Given the description of an element on the screen output the (x, y) to click on. 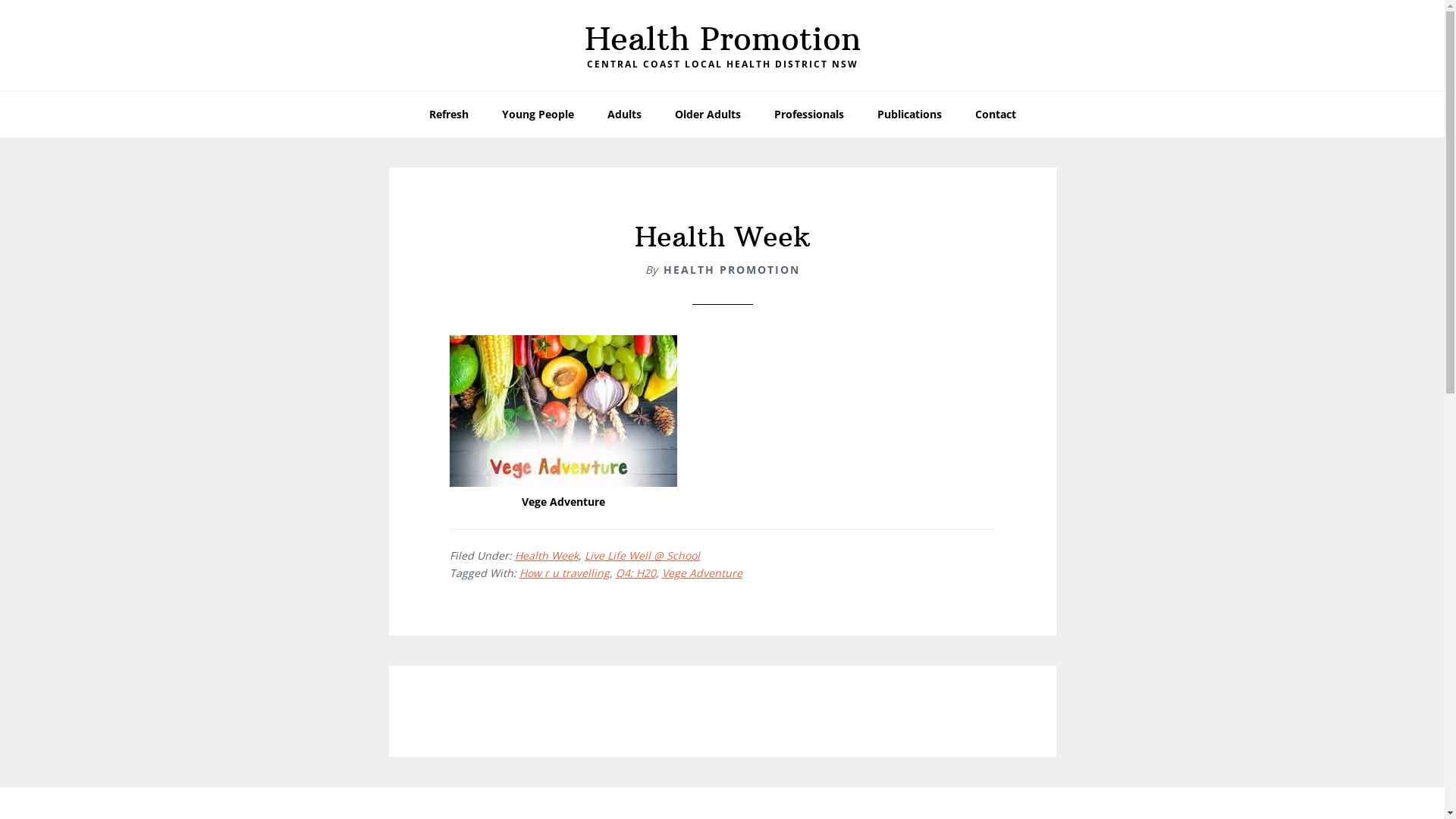
Live Life Well @ School Element type: text (641, 555)
Adults Element type: text (623, 114)
Health Promotion Element type: text (721, 38)
Health Week Element type: text (545, 555)
Older Adults Element type: text (707, 114)
Young People Element type: text (537, 114)
Refresh Element type: text (448, 114)
Contact Element type: text (995, 114)
Vege Adventure Element type: text (701, 572)
HEALTH PROMOTION Element type: text (730, 269)
Q4: H20 Element type: text (635, 572)
Professionals Element type: text (808, 114)
Publications Element type: text (908, 114)
How r u travelling Element type: text (563, 572)
Skip to primary navigation Element type: text (0, 0)
